Given the description of an element on the screen output the (x, y) to click on. 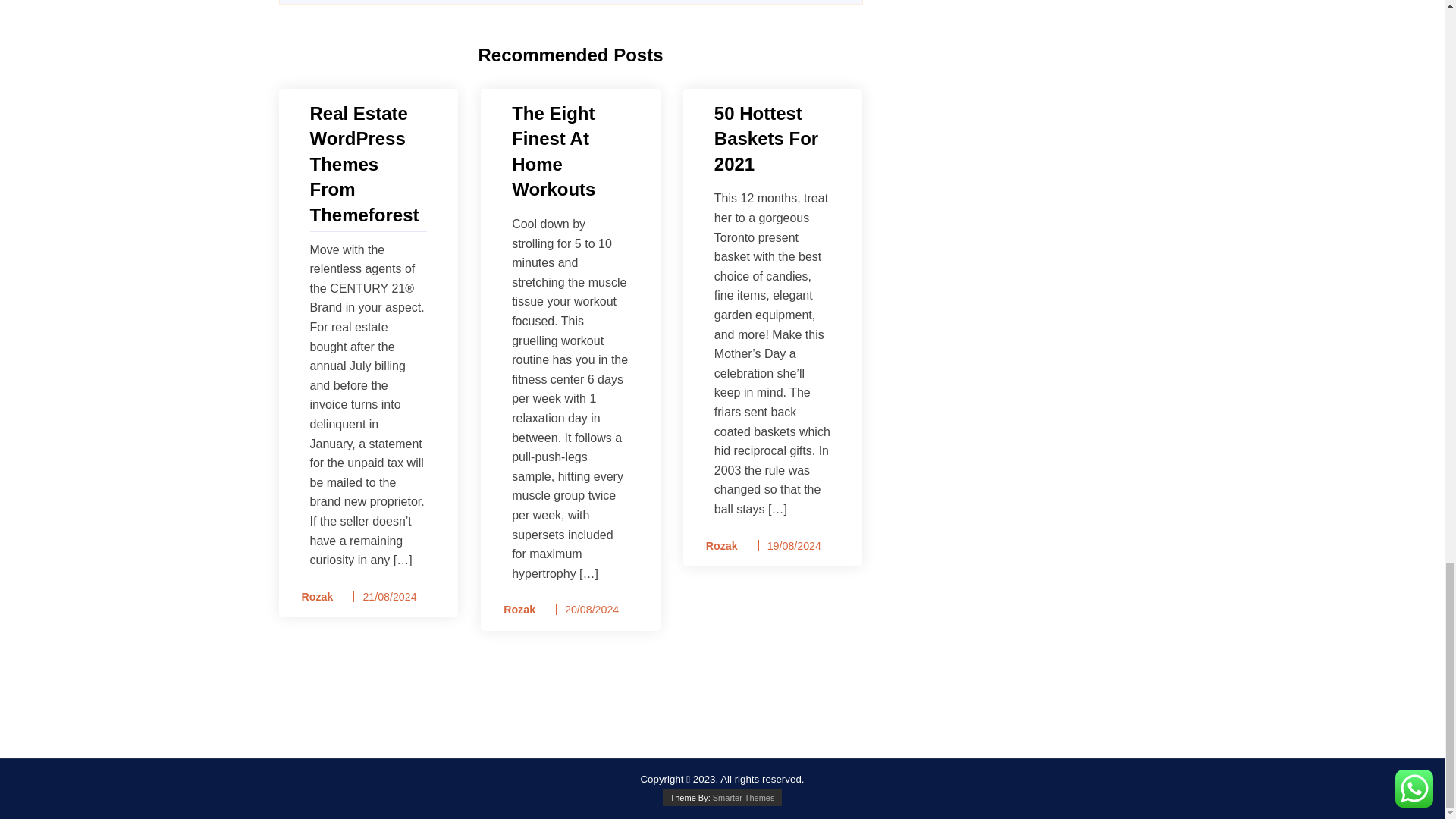
Rozak (514, 610)
Real Estate WordPress Themes From Themeforest (367, 164)
The Eight Finest At Home Workouts (570, 151)
Rozak (716, 546)
Rozak (312, 597)
50 Hottest Baskets For 2021 (772, 138)
